Given the description of an element on the screen output the (x, y) to click on. 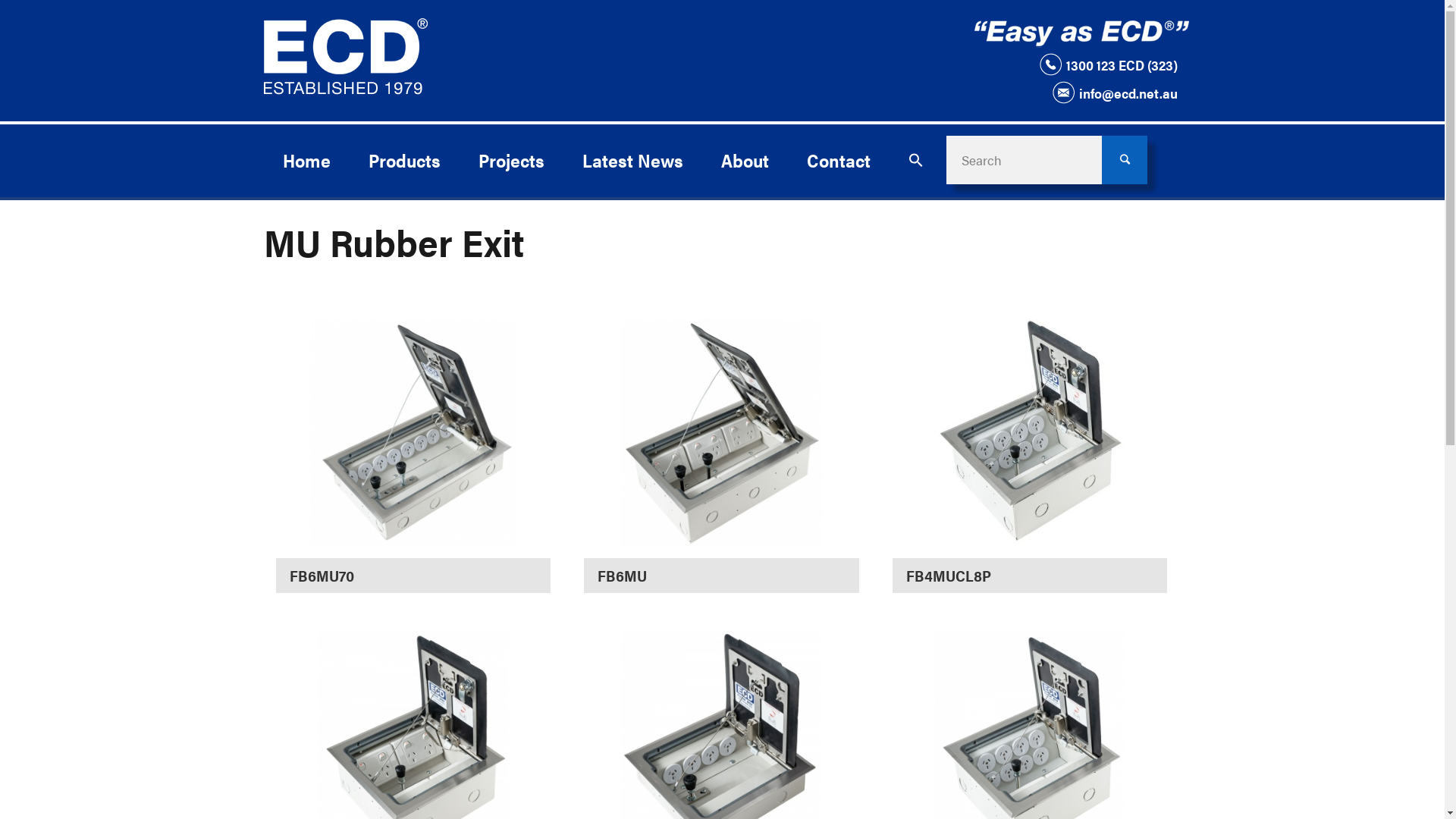
FB6MU Element type: text (720, 468)
Projects Element type: text (511, 159)
info@ecd.net.au Element type: text (1114, 93)
About Element type: text (744, 159)
Home Element type: text (306, 159)
Products Element type: text (403, 159)
Contact Element type: text (837, 159)
FB6MU70 Element type: text (412, 468)
FB4MUCL8P Element type: text (1029, 468)
1300 123 ECD (323) Element type: text (1107, 65)
Latest News Element type: text (631, 159)
